Given the description of an element on the screen output the (x, y) to click on. 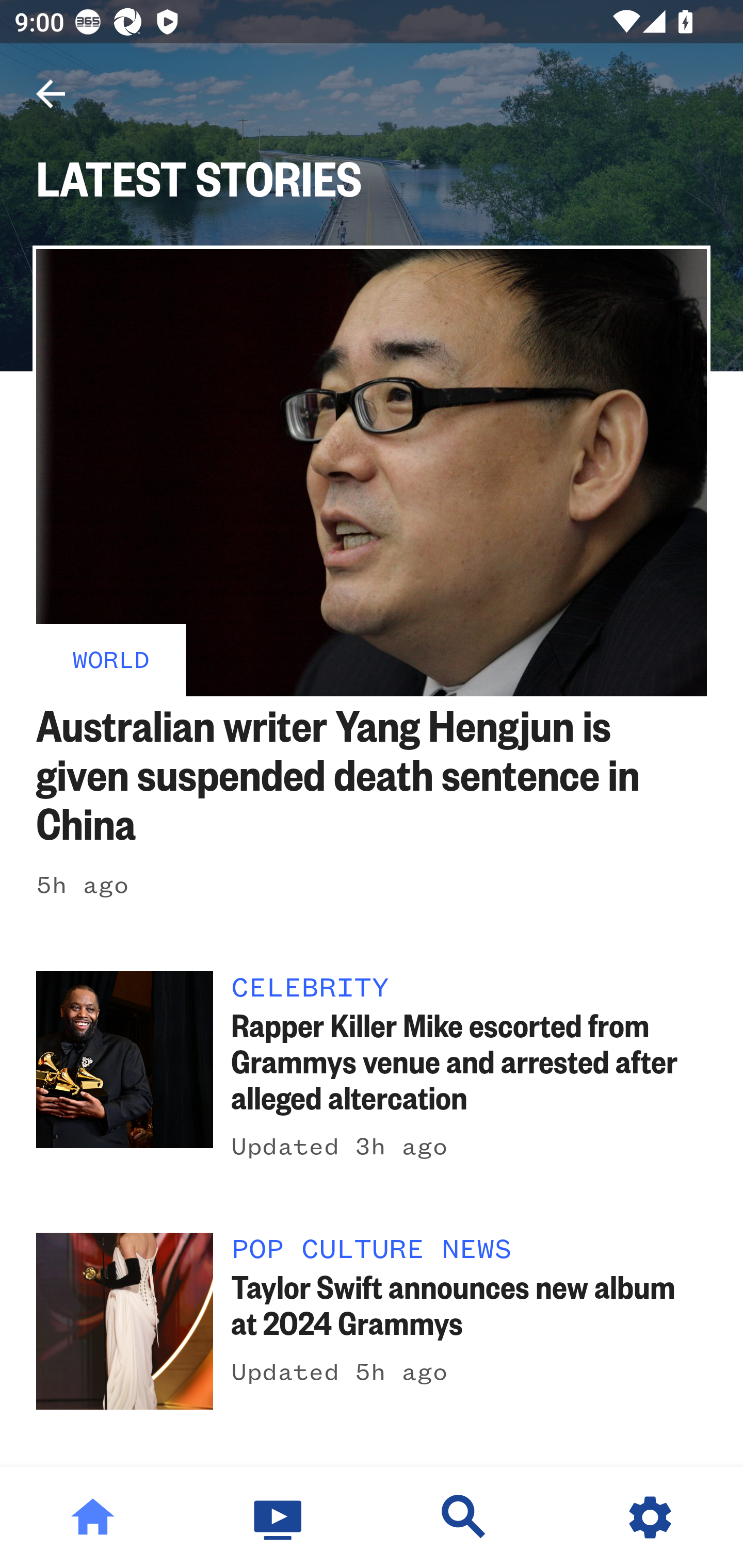
Navigate up (50, 93)
Watch (278, 1517)
Discover (464, 1517)
Settings (650, 1517)
